Given the description of an element on the screen output the (x, y) to click on. 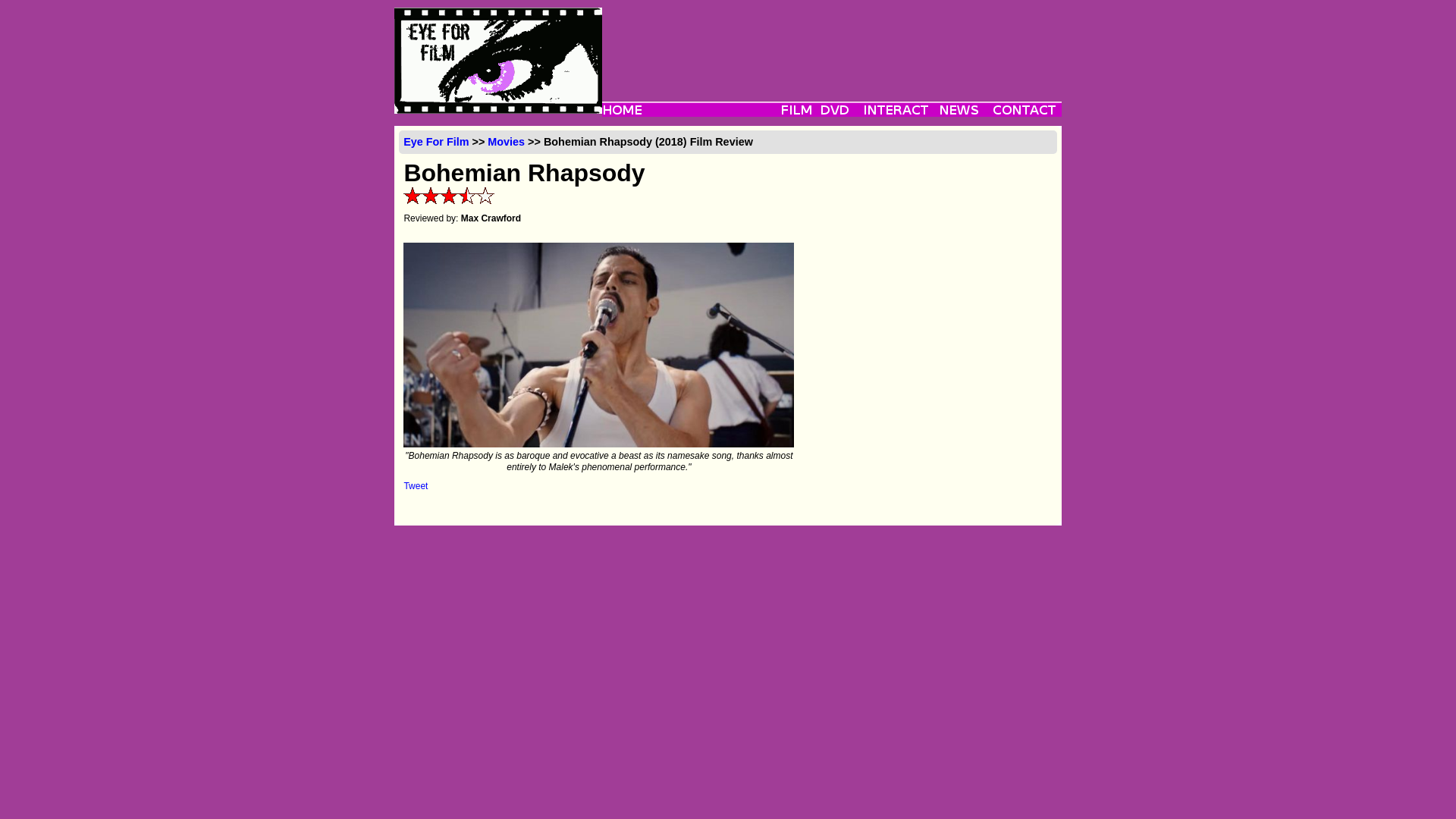
Movies (505, 141)
Tweet (415, 485)
Advertisement (832, 41)
Max Crawford (491, 217)
Eye For Film (435, 141)
